Given the description of an element on the screen output the (x, y) to click on. 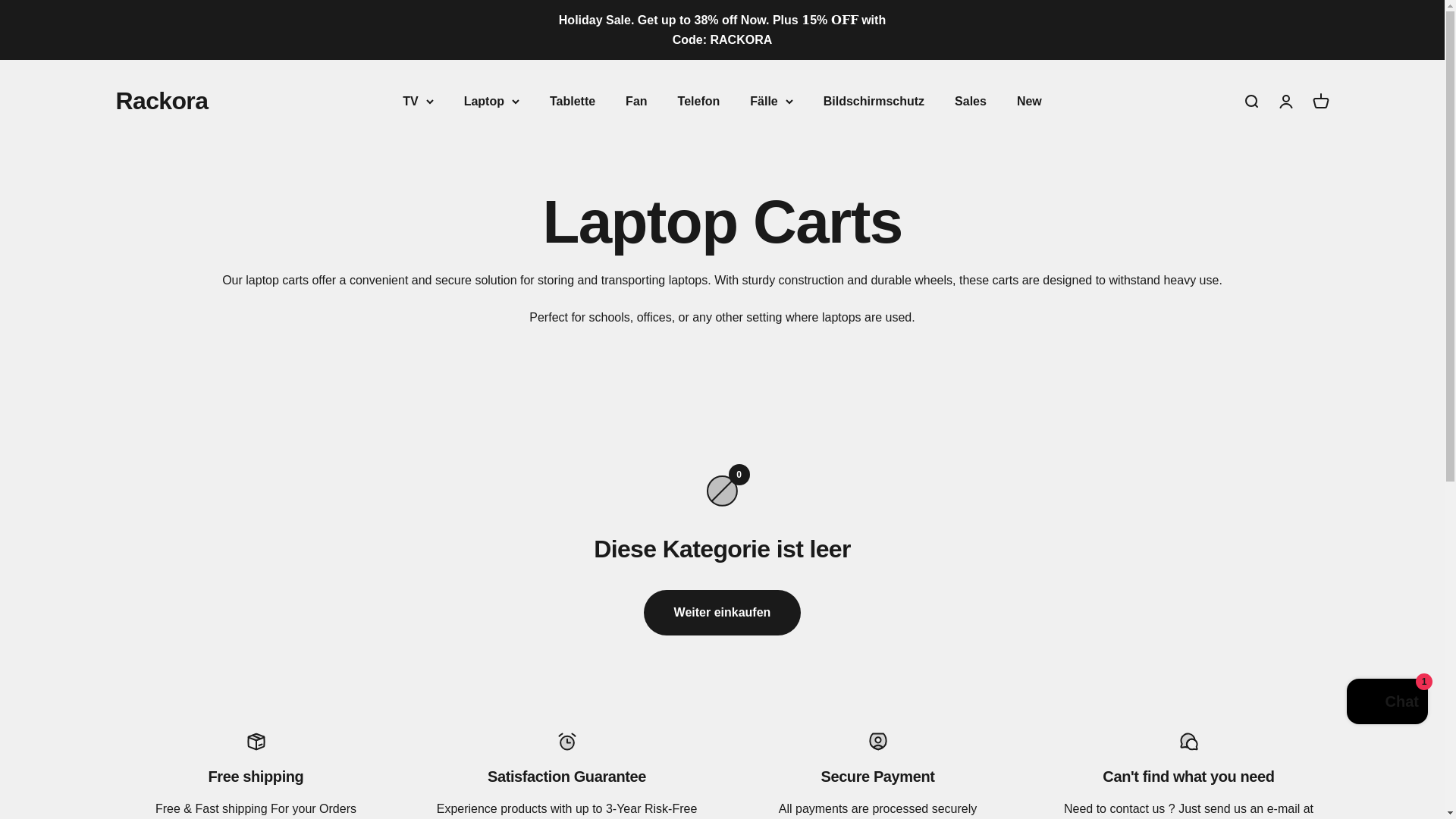
Telefon (699, 101)
Fan (636, 101)
New (1029, 101)
Onlineshop-Chat von Shopify (1387, 703)
Rackora (161, 101)
Tablette (572, 101)
Sales (971, 101)
Bildschirmschutz (874, 101)
